Given the description of an element on the screen output the (x, y) to click on. 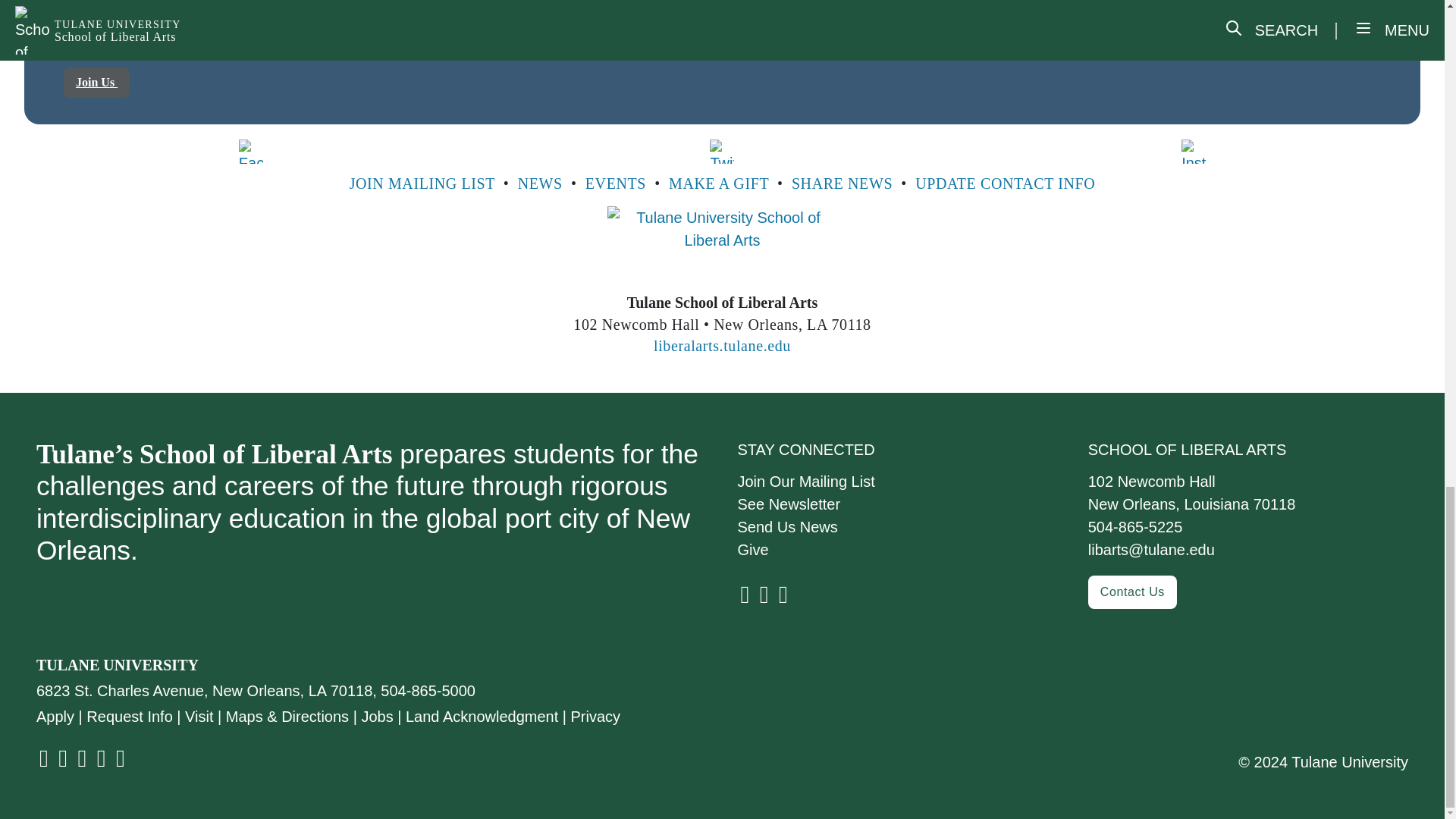
Join Us  (96, 82)
NEWS (540, 183)
JOIN MAILING LIST (422, 183)
